Given the description of an element on the screen output the (x, y) to click on. 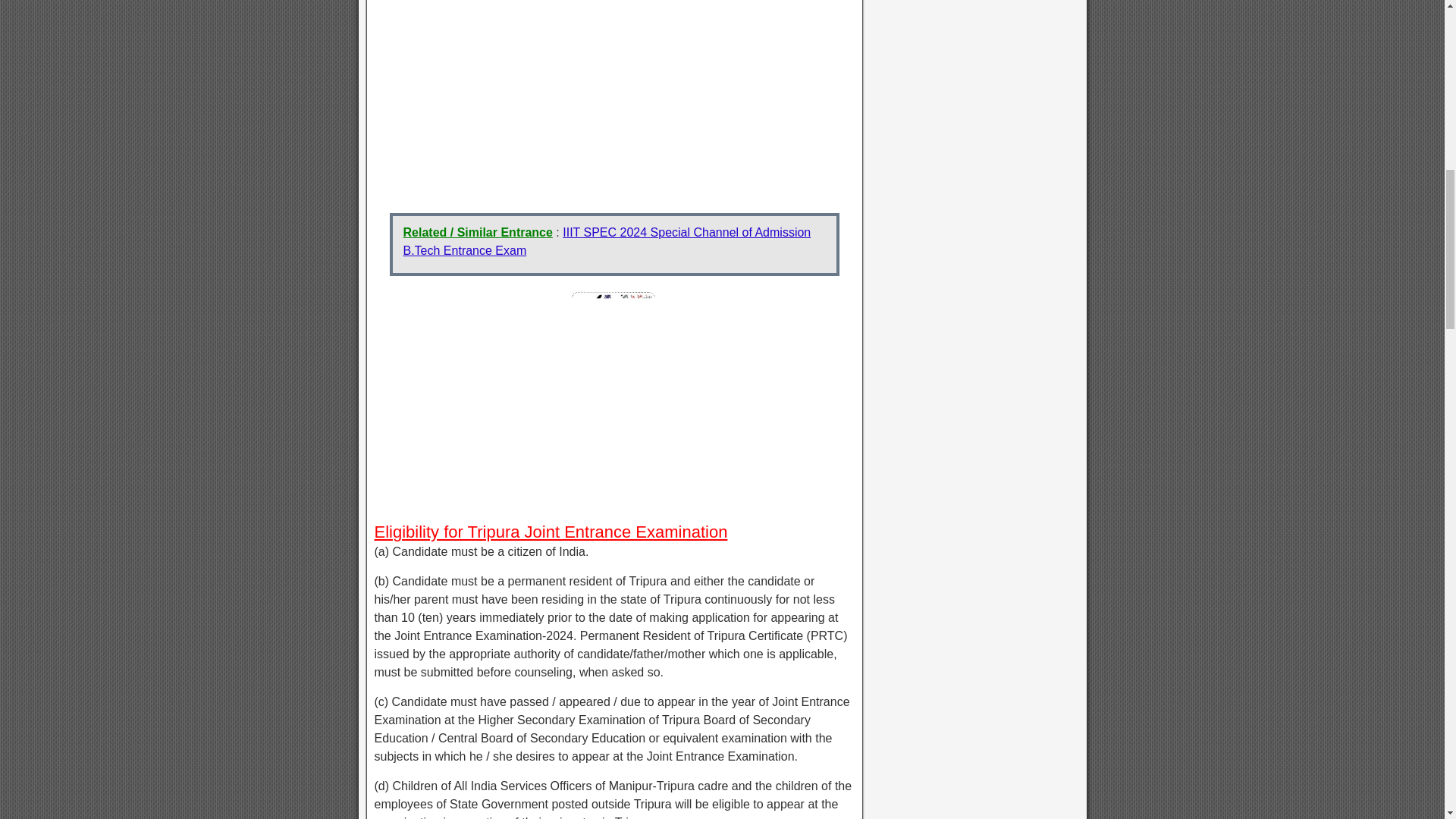
Advertisement (614, 99)
